Given the description of an element on the screen output the (x, y) to click on. 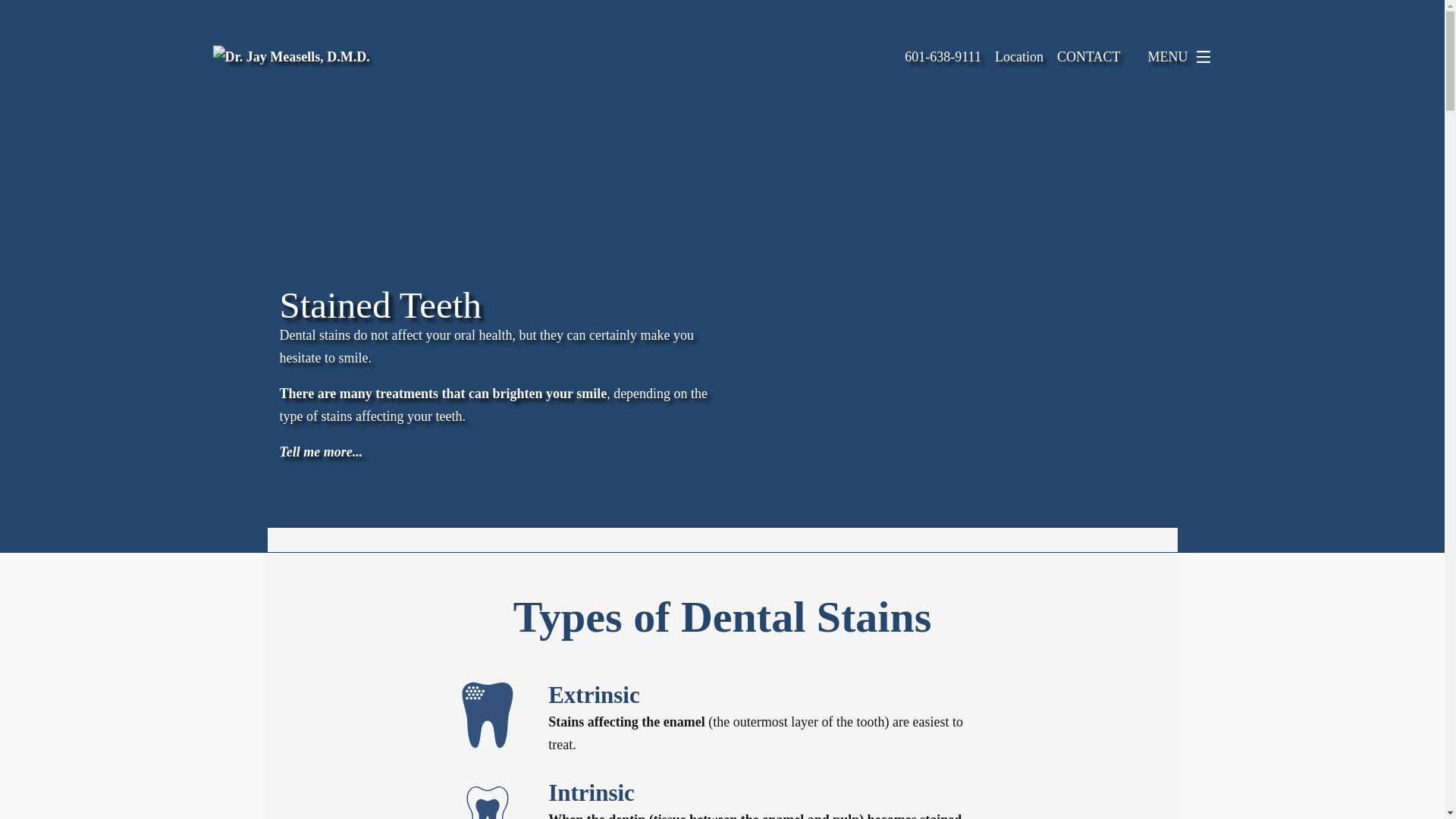
Call 601-638-9111 (942, 56)
